Given the description of an element on the screen output the (x, y) to click on. 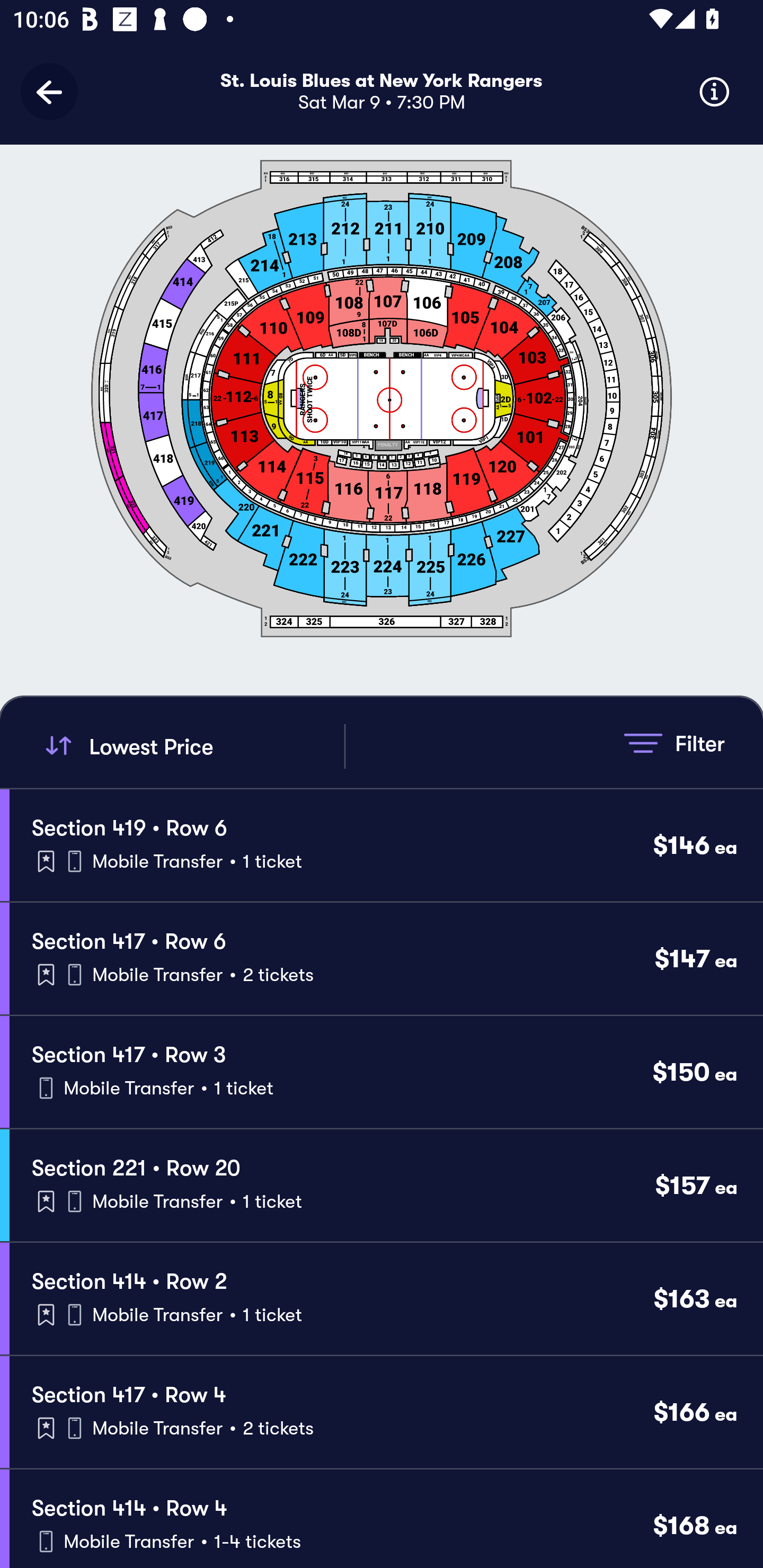
Lowest Price (191, 746)
Filter (674, 743)
